Given the description of an element on the screen output the (x, y) to click on. 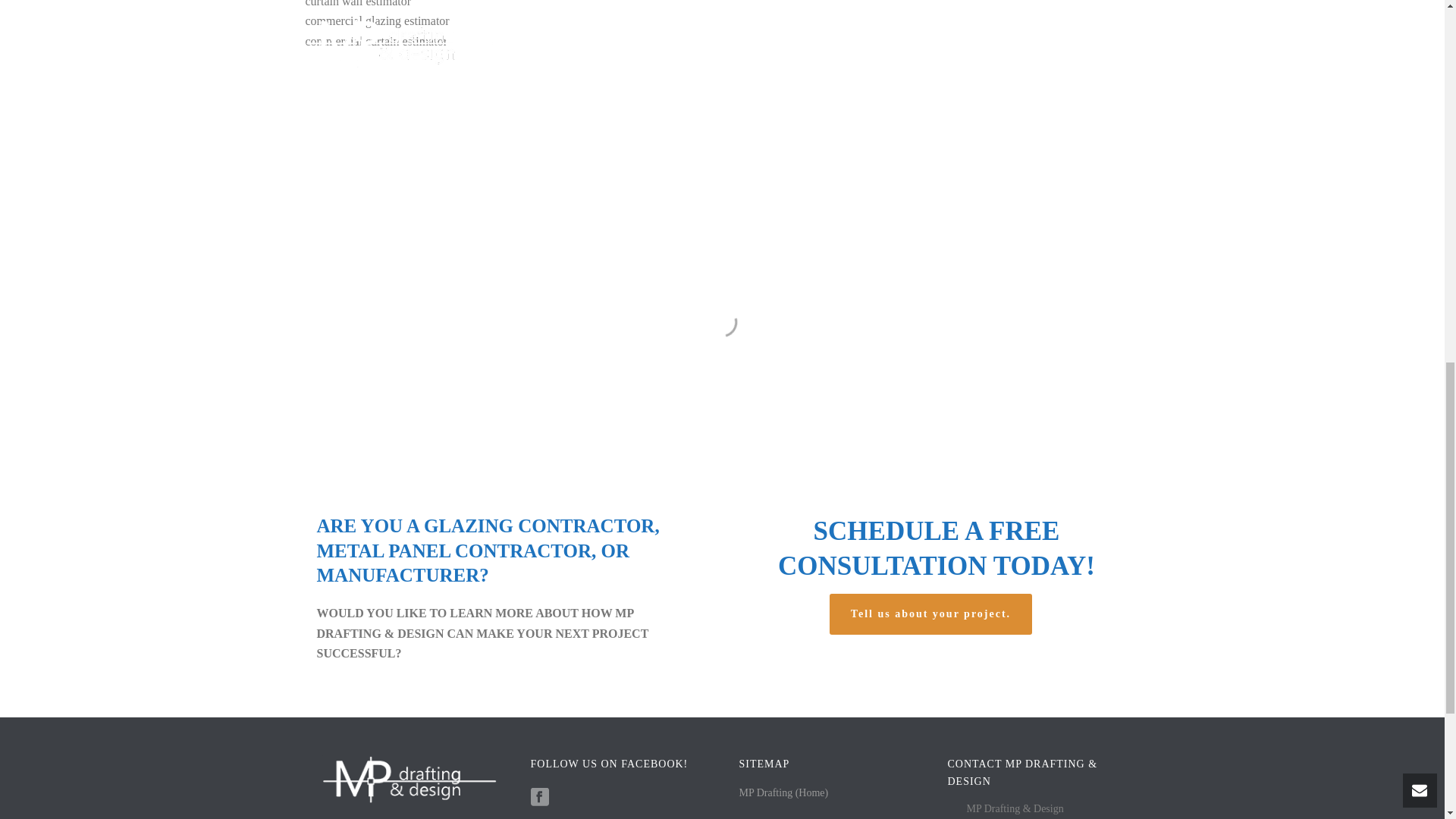
MP Drafting Home (783, 772)
Follow Us on Facebook! facebook (539, 777)
Services (756, 805)
Tell us about your project. (932, 613)
Services (756, 805)
Tell us about your project. (932, 613)
